Given the description of an element on the screen output the (x, y) to click on. 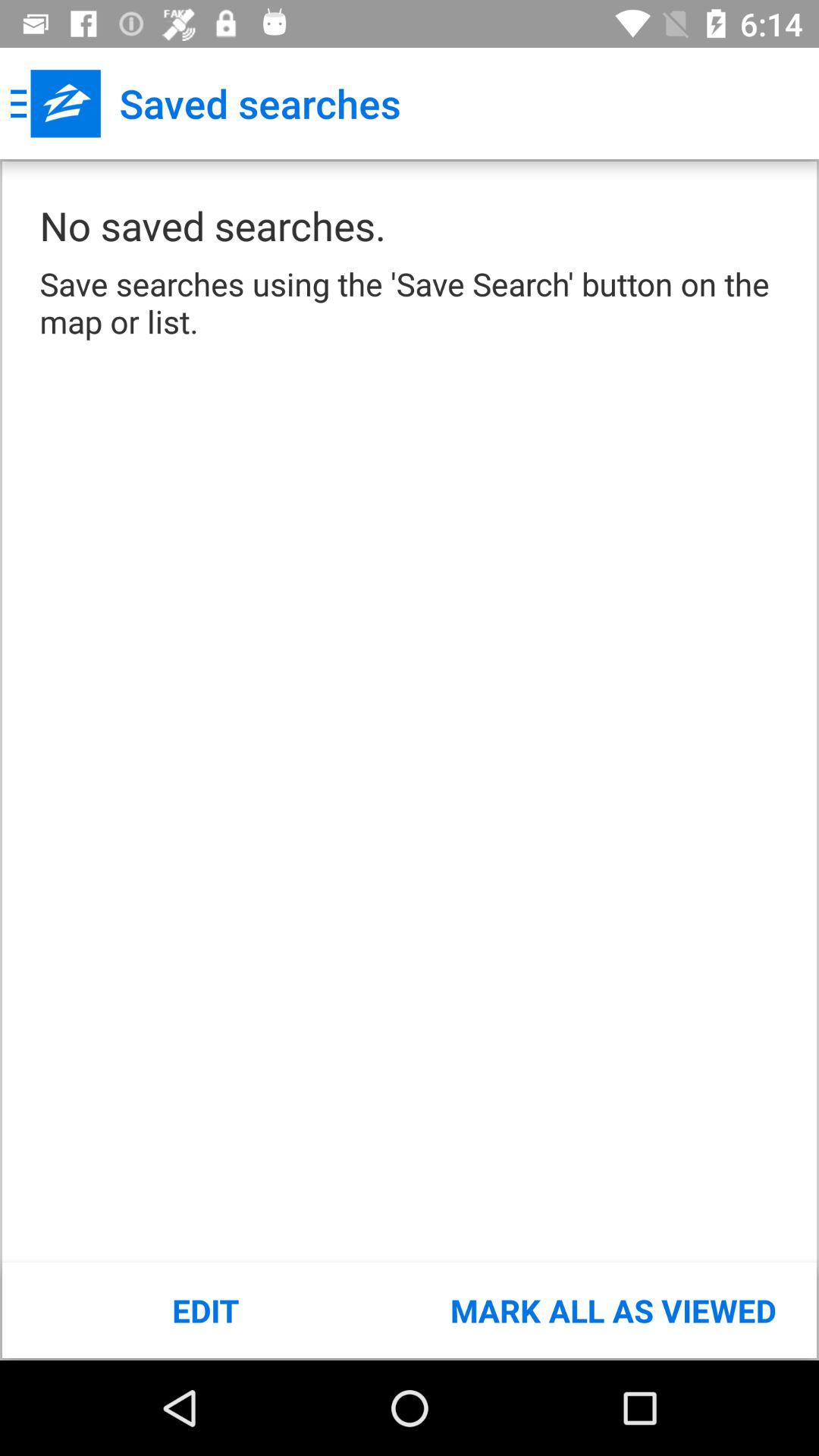
turn on app next to saved searches app (55, 103)
